Given the description of an element on the screen output the (x, y) to click on. 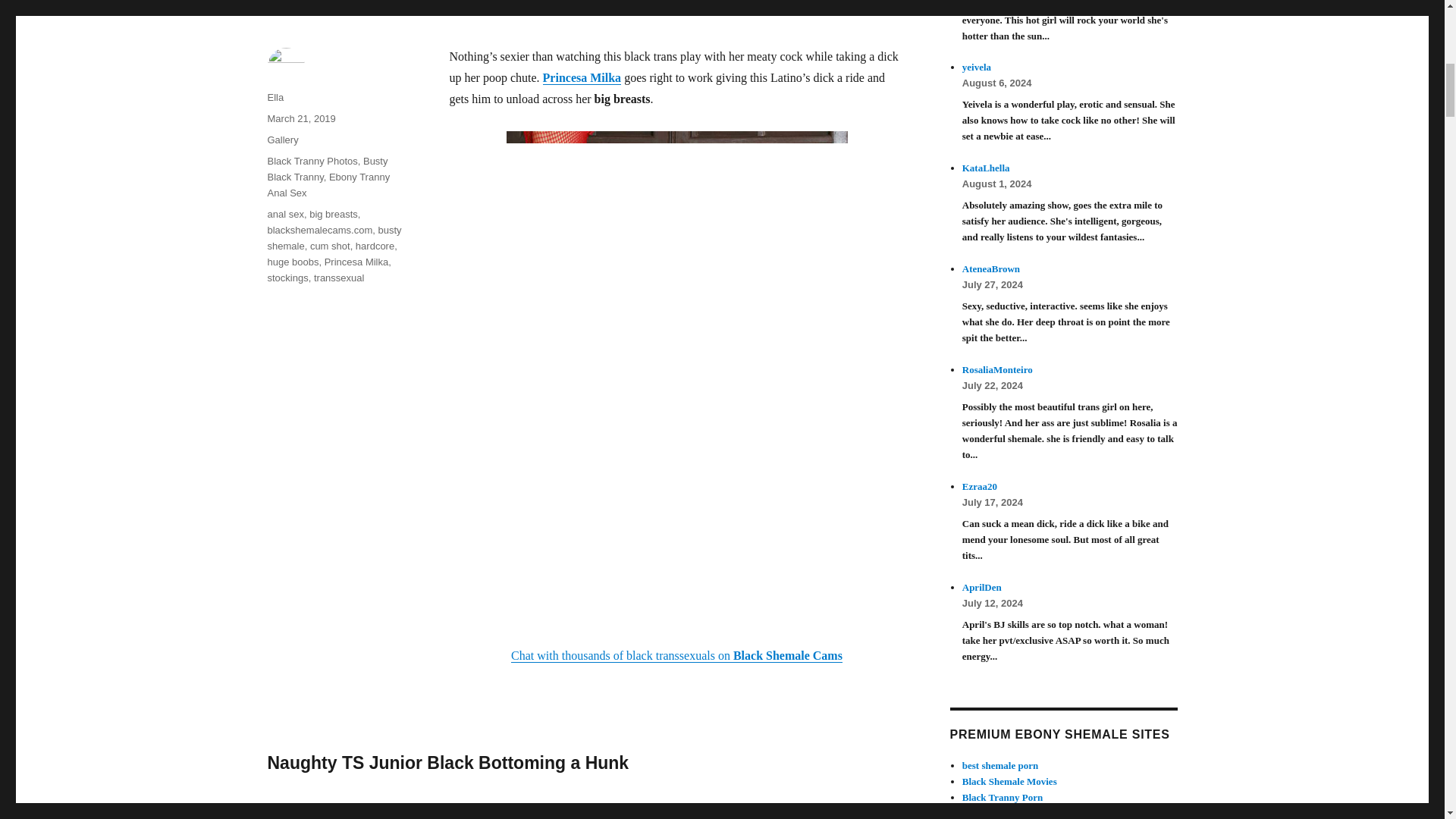
hardcore (374, 245)
Gallery (282, 139)
big breasts (333, 214)
blackshemalecams.com (319, 229)
Princesa Milka (582, 77)
black shemale cams (677, 655)
Ella (274, 97)
busty shemale (333, 237)
huge boobs (292, 261)
